Given the description of an element on the screen output the (x, y) to click on. 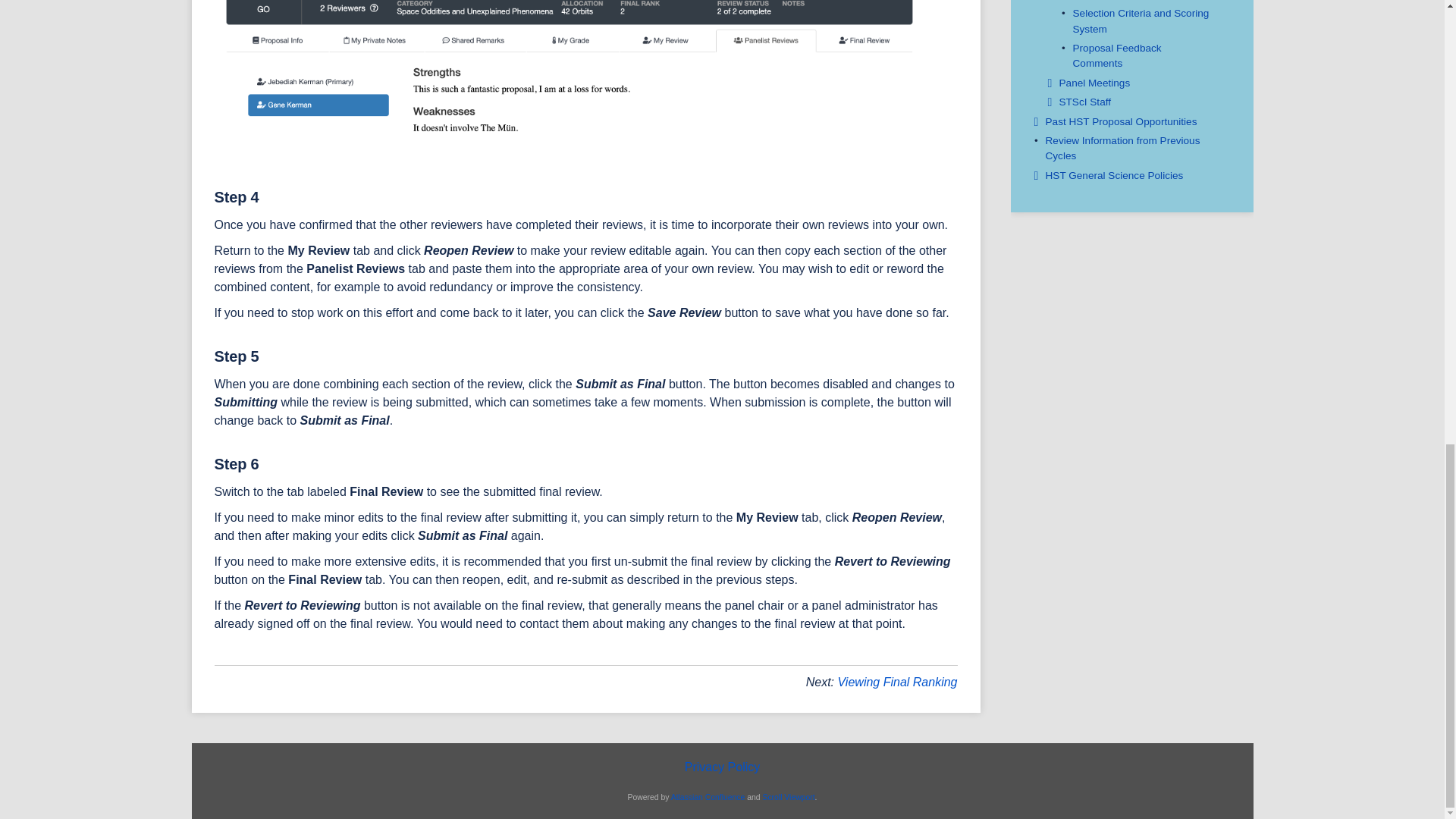
Viewing Final Ranking (896, 681)
